Given the description of an element on the screen output the (x, y) to click on. 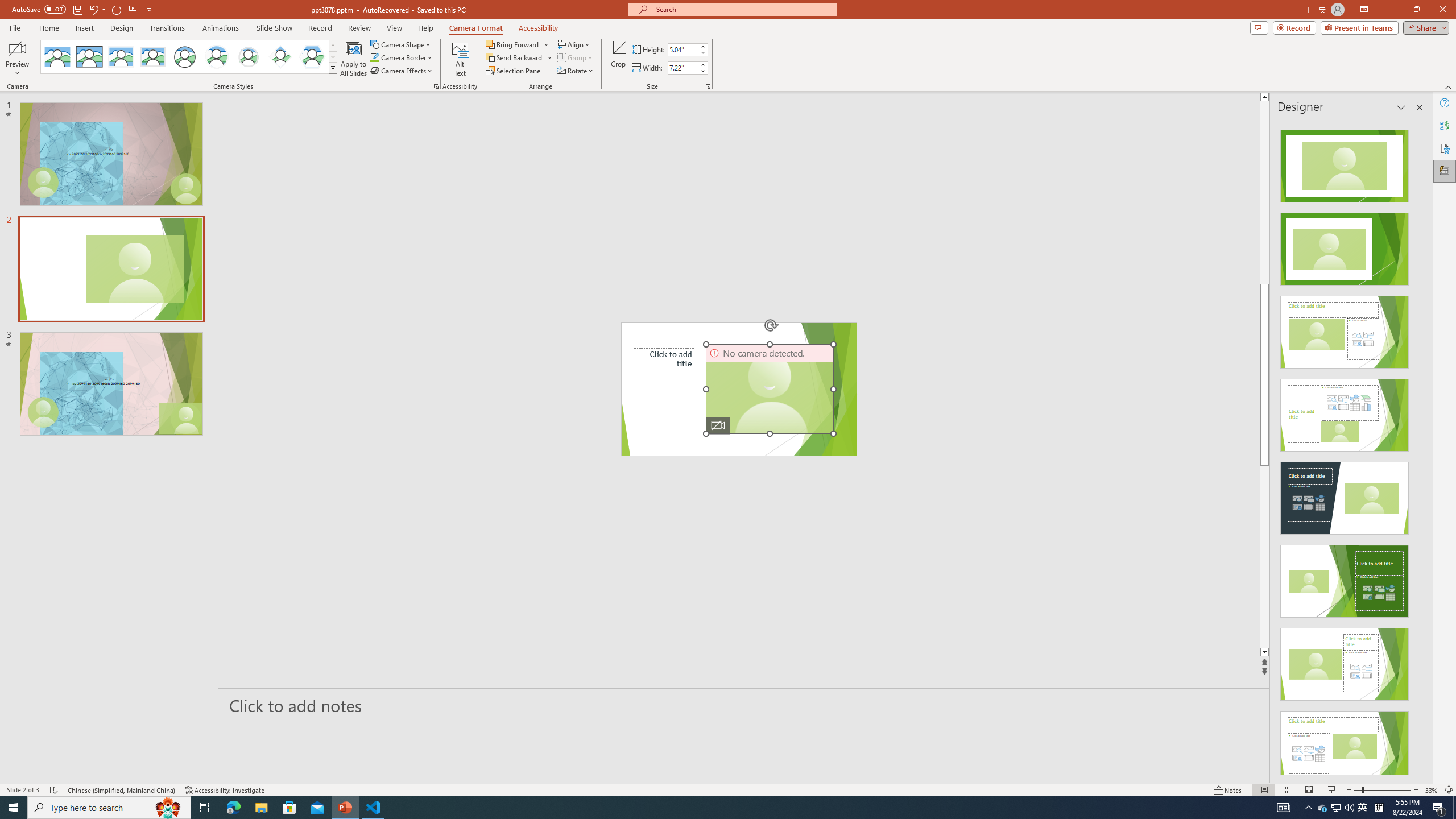
Send Backward (514, 56)
Camera Effects (402, 69)
Camera Border (401, 56)
Bring Forward (513, 44)
